Given the description of an element on the screen output the (x, y) to click on. 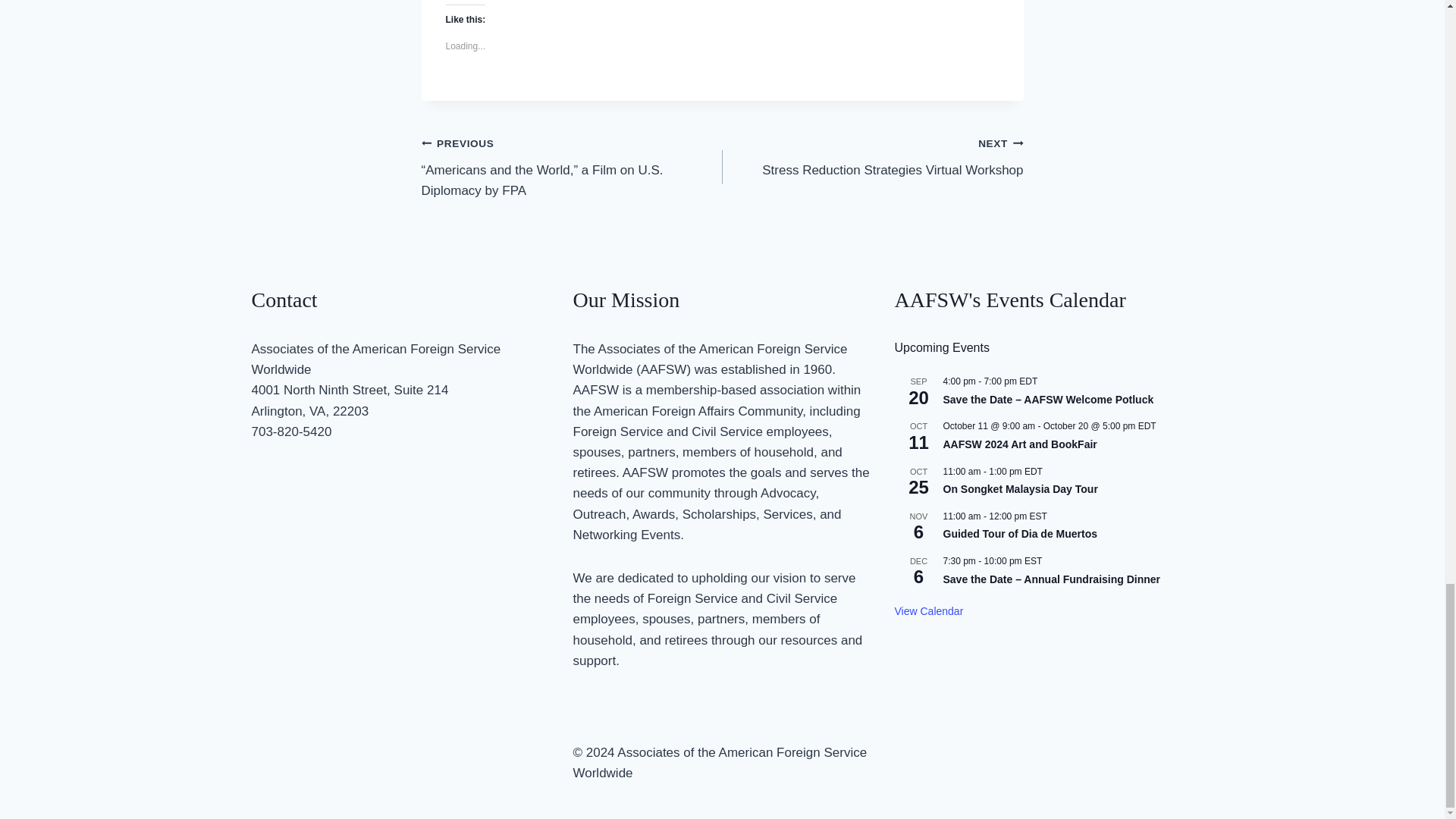
Guided Tour of Dia de Muertos (1020, 533)
AAFSW 2024 Art and BookFair (1020, 444)
On Songket Malaysia Day Tour (1020, 489)
View more events. (929, 611)
